Given the description of an element on the screen output the (x, y) to click on. 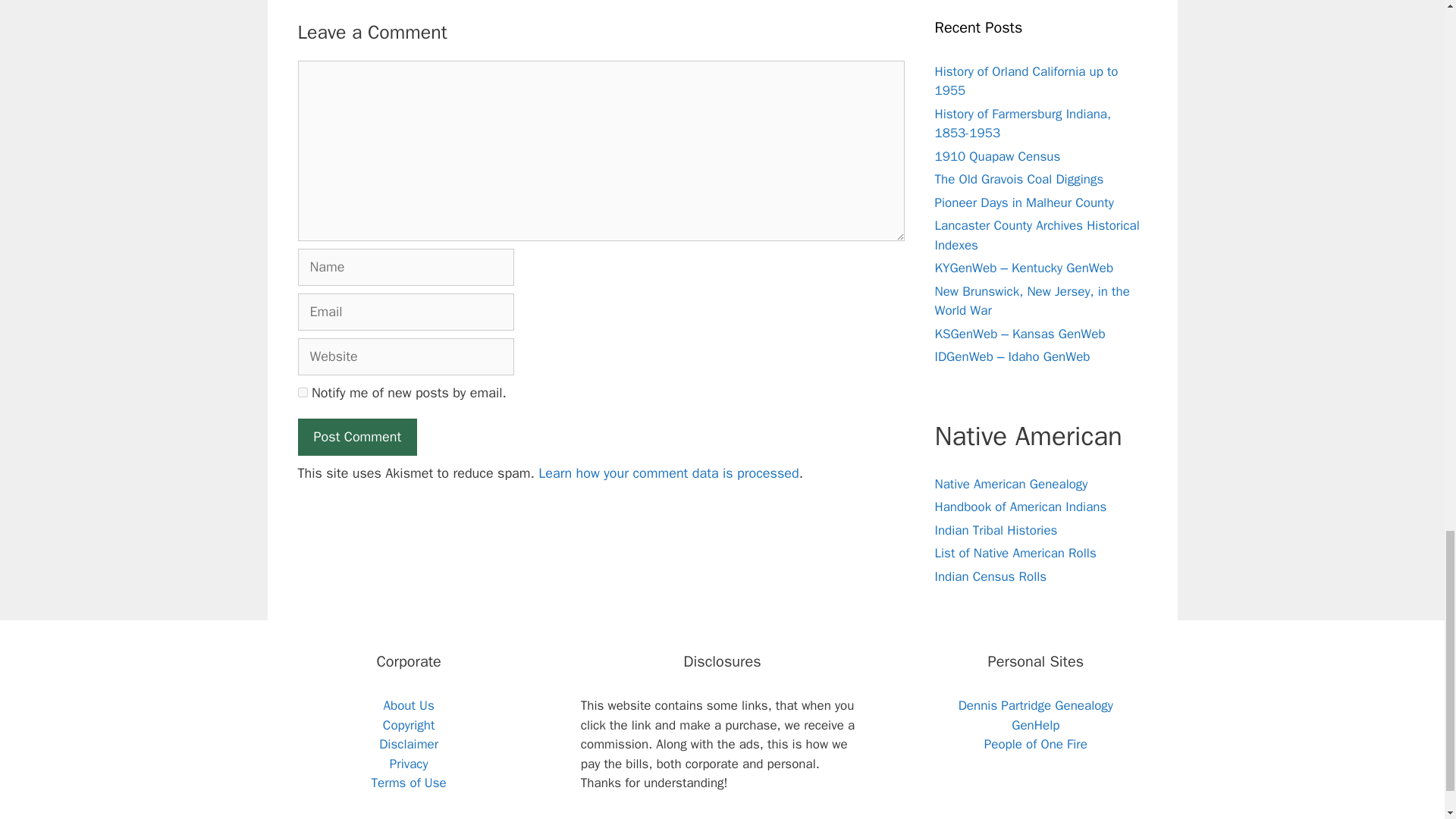
Post Comment (356, 436)
Learn how your comment data is processed (667, 473)
Post Comment (356, 436)
subscribe (302, 392)
